Given the description of an element on the screen output the (x, y) to click on. 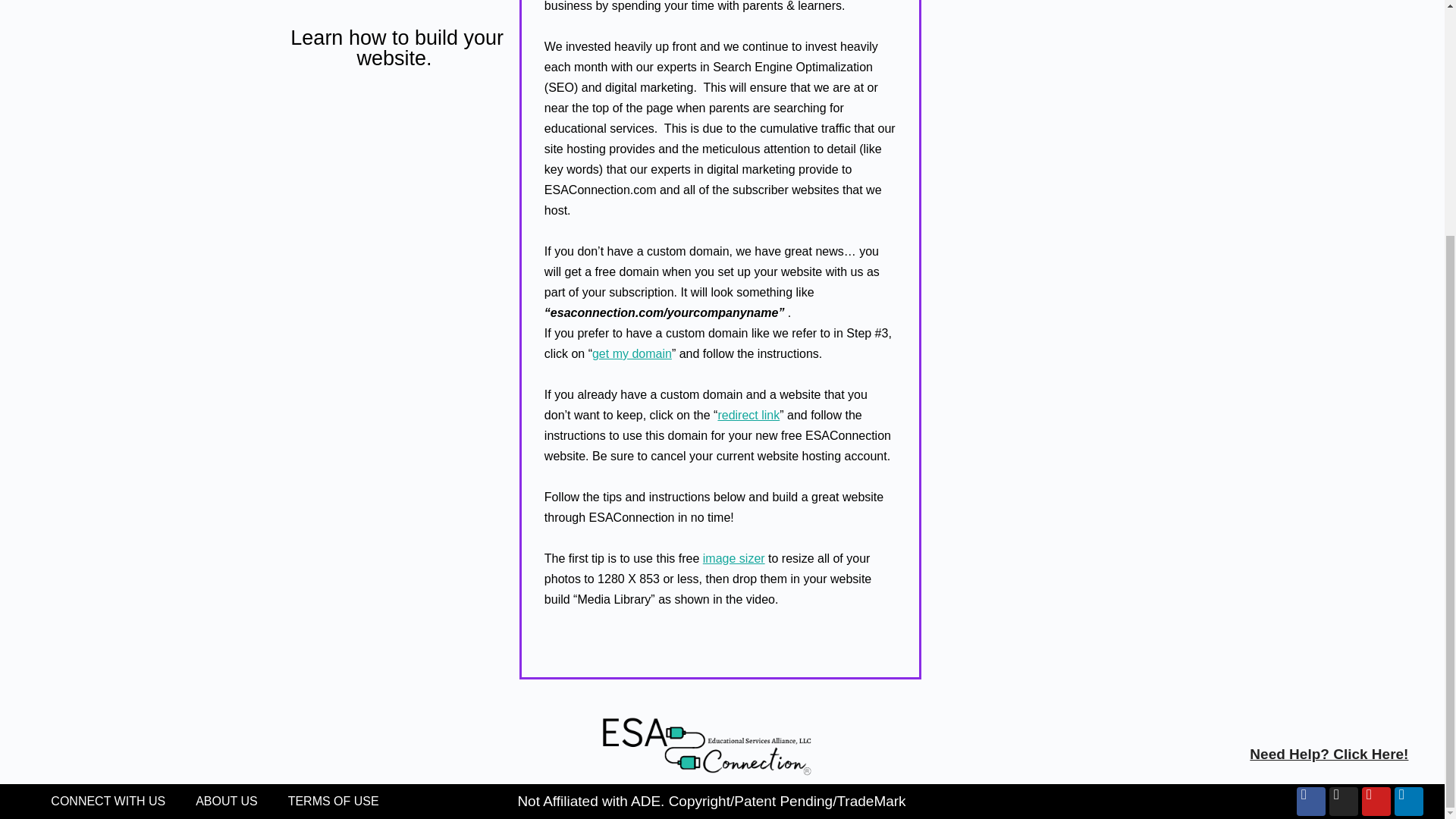
redirect link (747, 414)
get my domain (631, 353)
image sizer (734, 558)
Need Help? Click Here! (1328, 754)
